Given the description of an element on the screen output the (x, y) to click on. 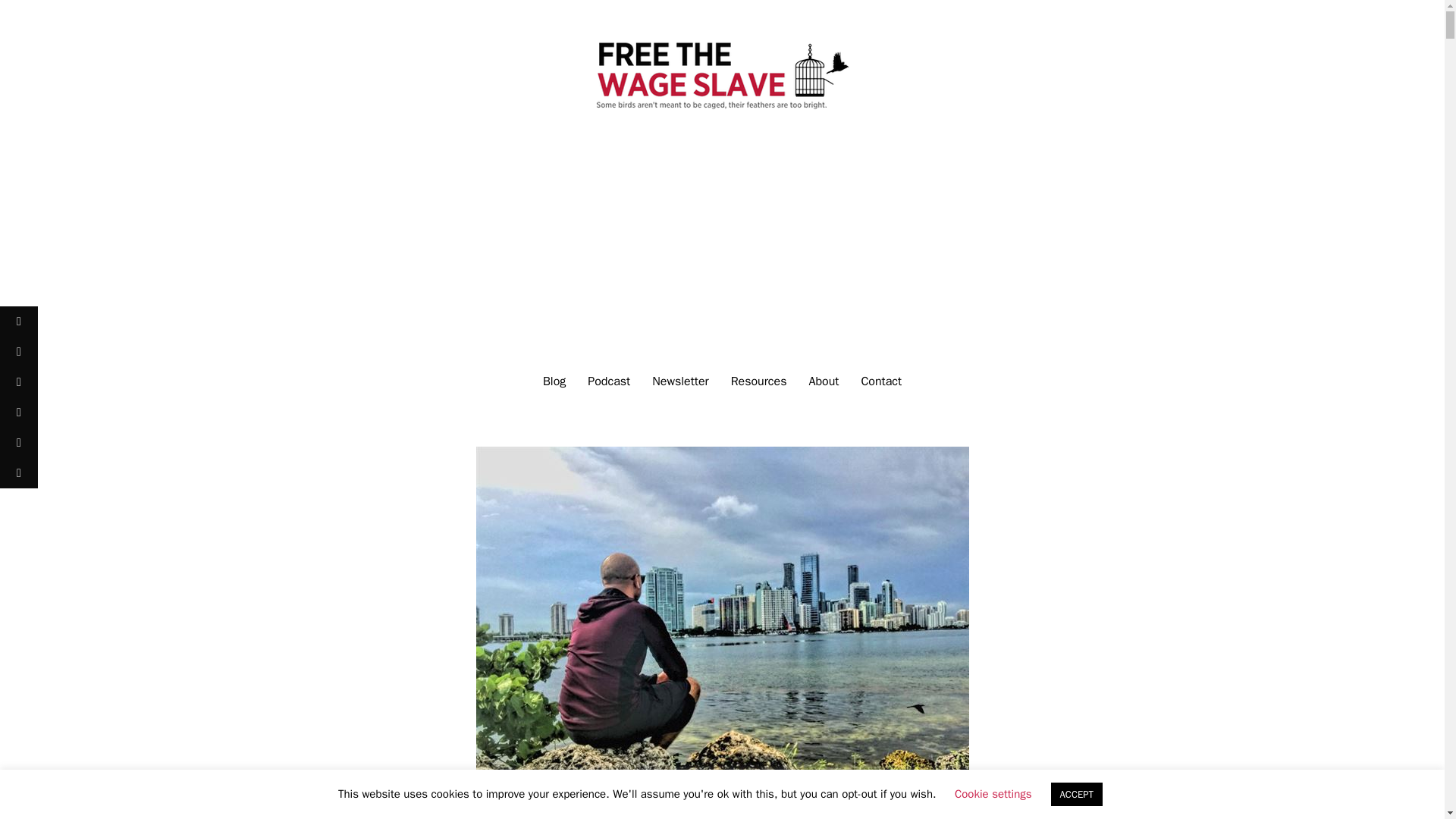
Blog (554, 381)
Resources (758, 381)
Newsletter (680, 381)
About (822, 381)
free-the-wage-slave-logo-main (722, 73)
Podcast (608, 381)
Contact (881, 381)
